Given the description of an element on the screen output the (x, y) to click on. 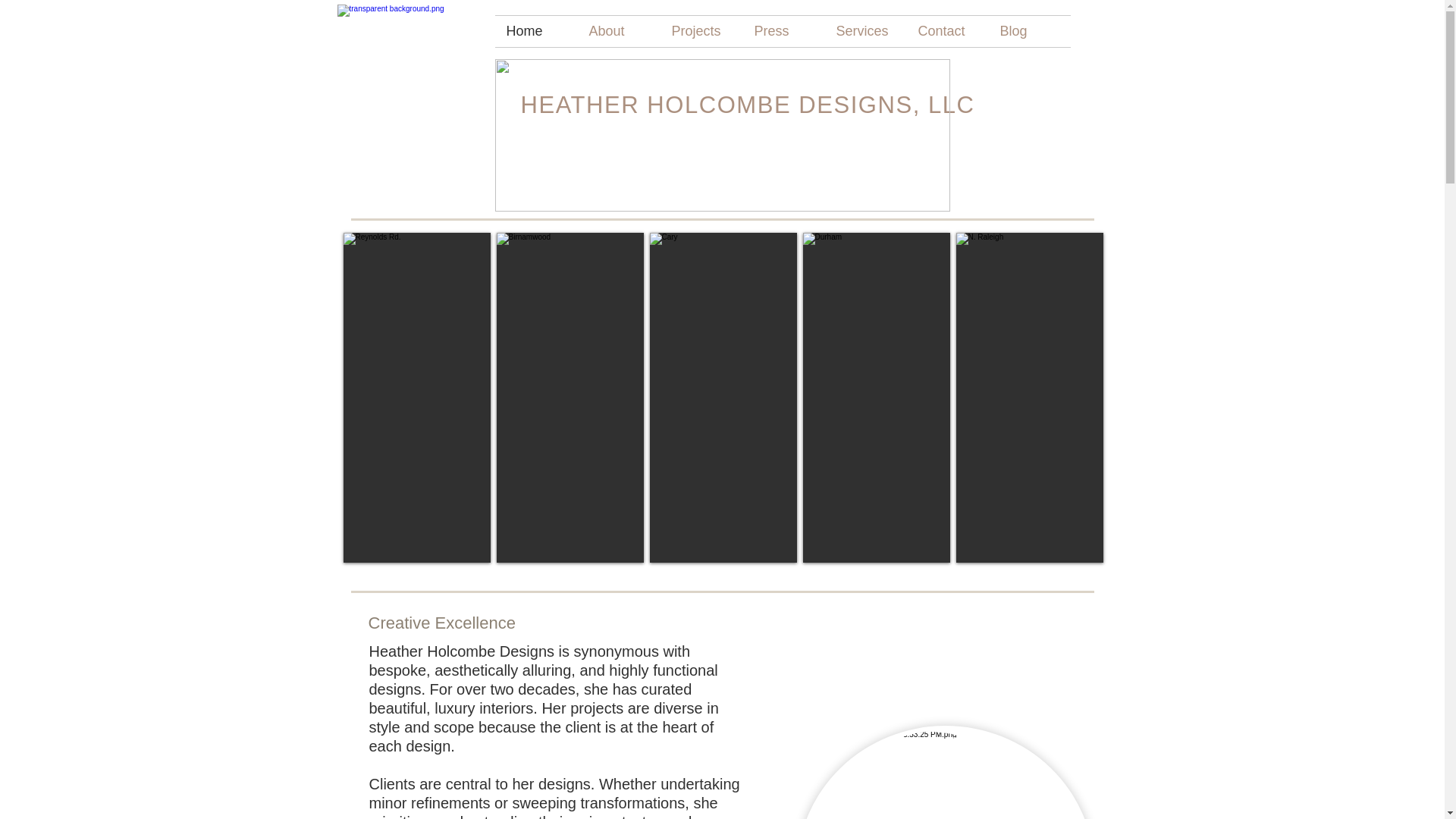
About (619, 30)
Services (866, 30)
Press (783, 30)
Projects (700, 30)
Blog (1029, 30)
Home (535, 30)
Contact (947, 30)
